Given the description of an element on the screen output the (x, y) to click on. 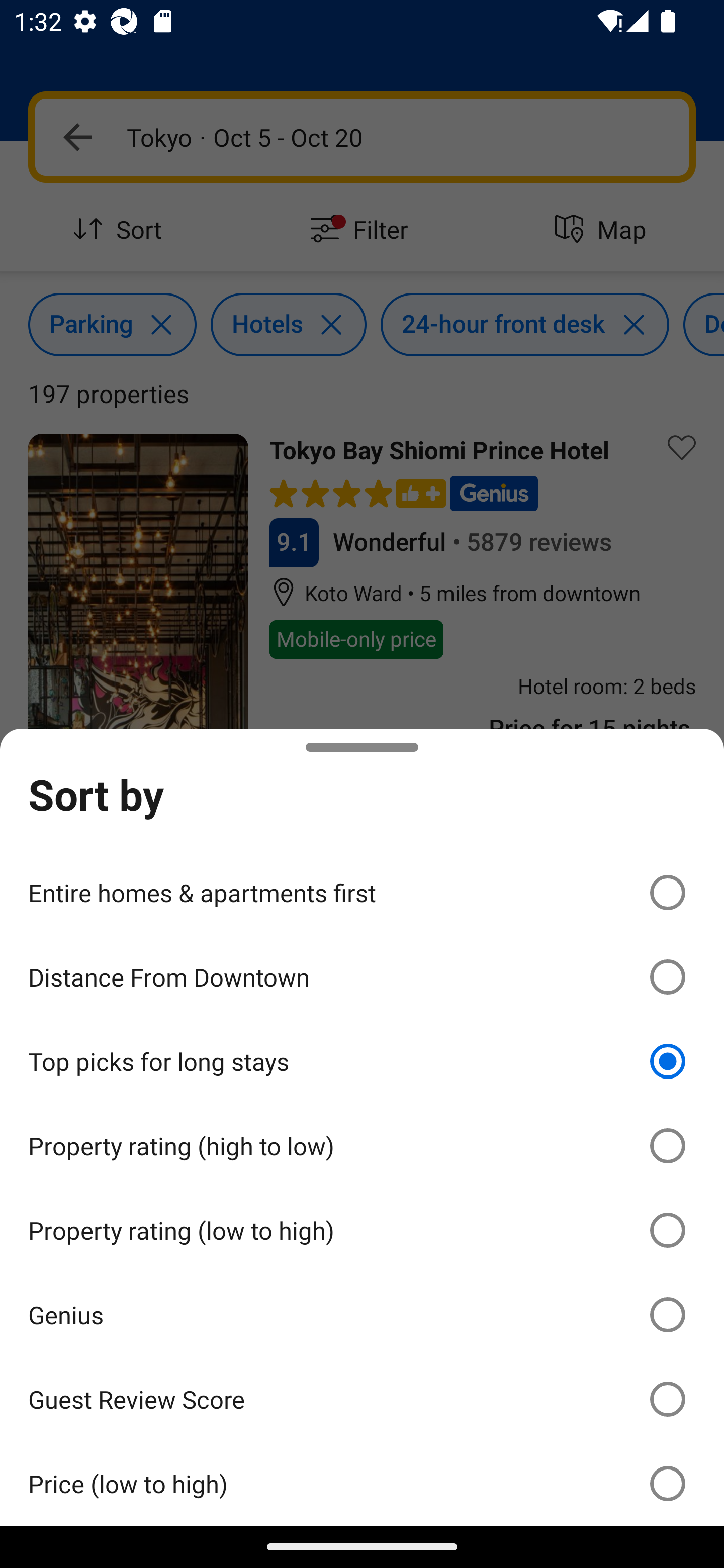
Entire homes & apartments first (362, 891)
Distance From Downtown (362, 976)
Top picks for long stays (362, 1061)
Property rating (high to low) (362, 1145)
Property rating (low to high) (362, 1230)
Genius (362, 1314)
Guest Review Score (362, 1398)
Price (low to high) (362, 1482)
